Given the description of an element on the screen output the (x, y) to click on. 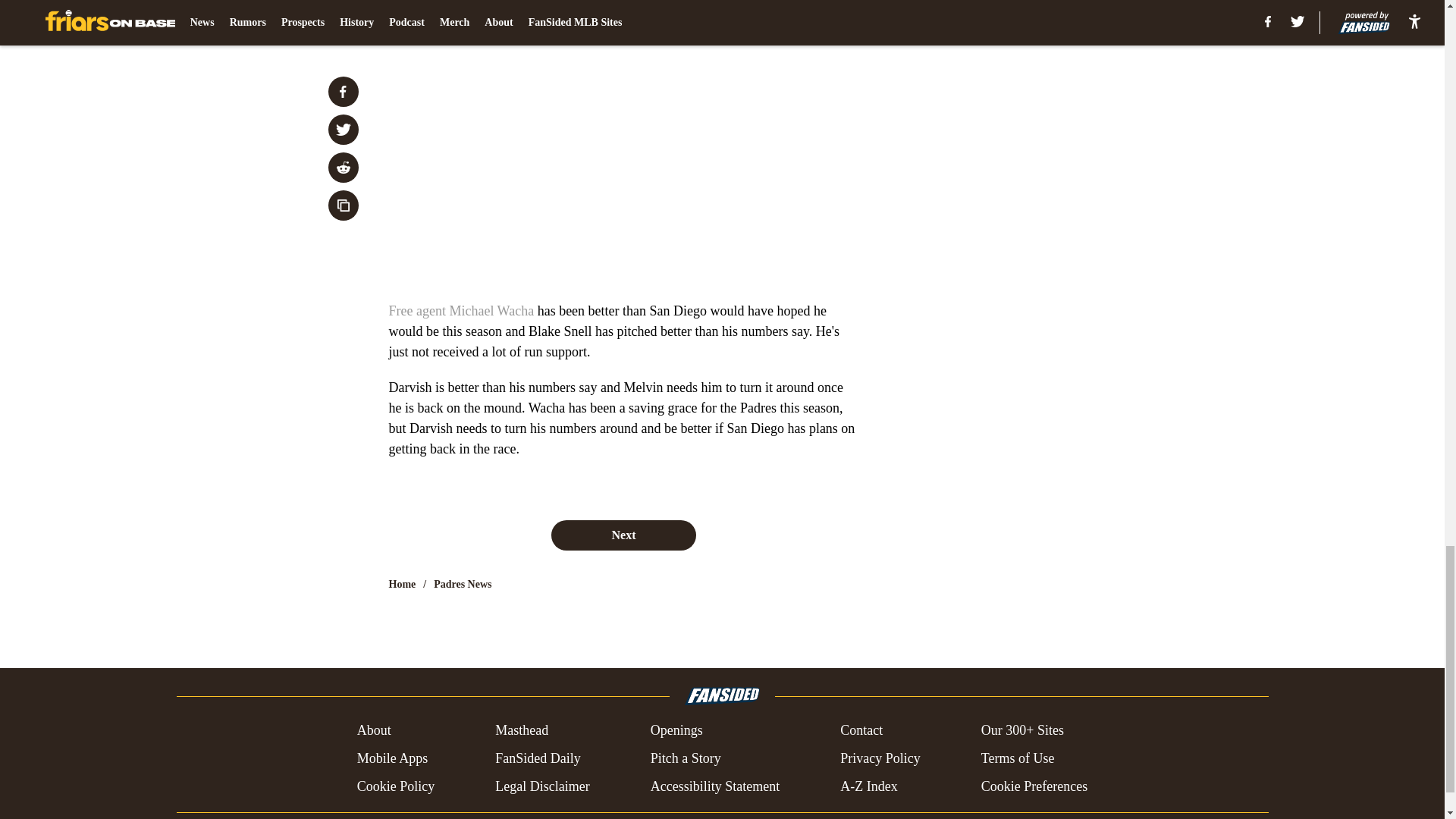
About (373, 730)
Openings (676, 730)
Home (401, 584)
Contact (861, 730)
Free agent Michael Wacha (461, 310)
Pitch a Story (685, 758)
Mobile Apps (392, 758)
Next (622, 535)
Privacy Policy (880, 758)
Padres News (462, 584)
FanSided Daily (537, 758)
Masthead (521, 730)
